Given the description of an element on the screen output the (x, y) to click on. 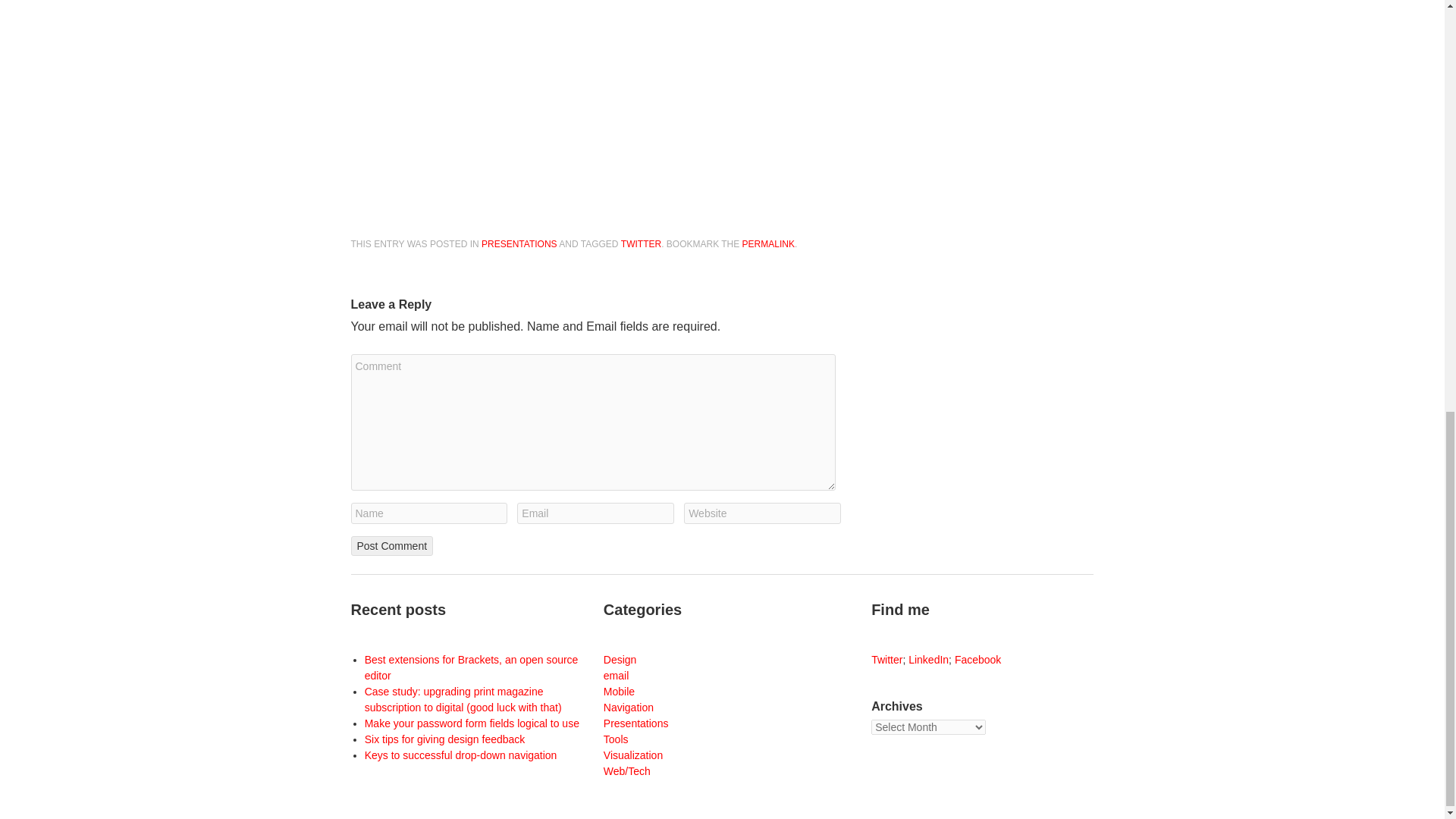
TWITTER (641, 244)
Post Comment (391, 546)
PRESENTATIONS (519, 244)
PERMALINK (768, 244)
Permalink to Twitter and Non-Profits (768, 244)
